Given the description of an element on the screen output the (x, y) to click on. 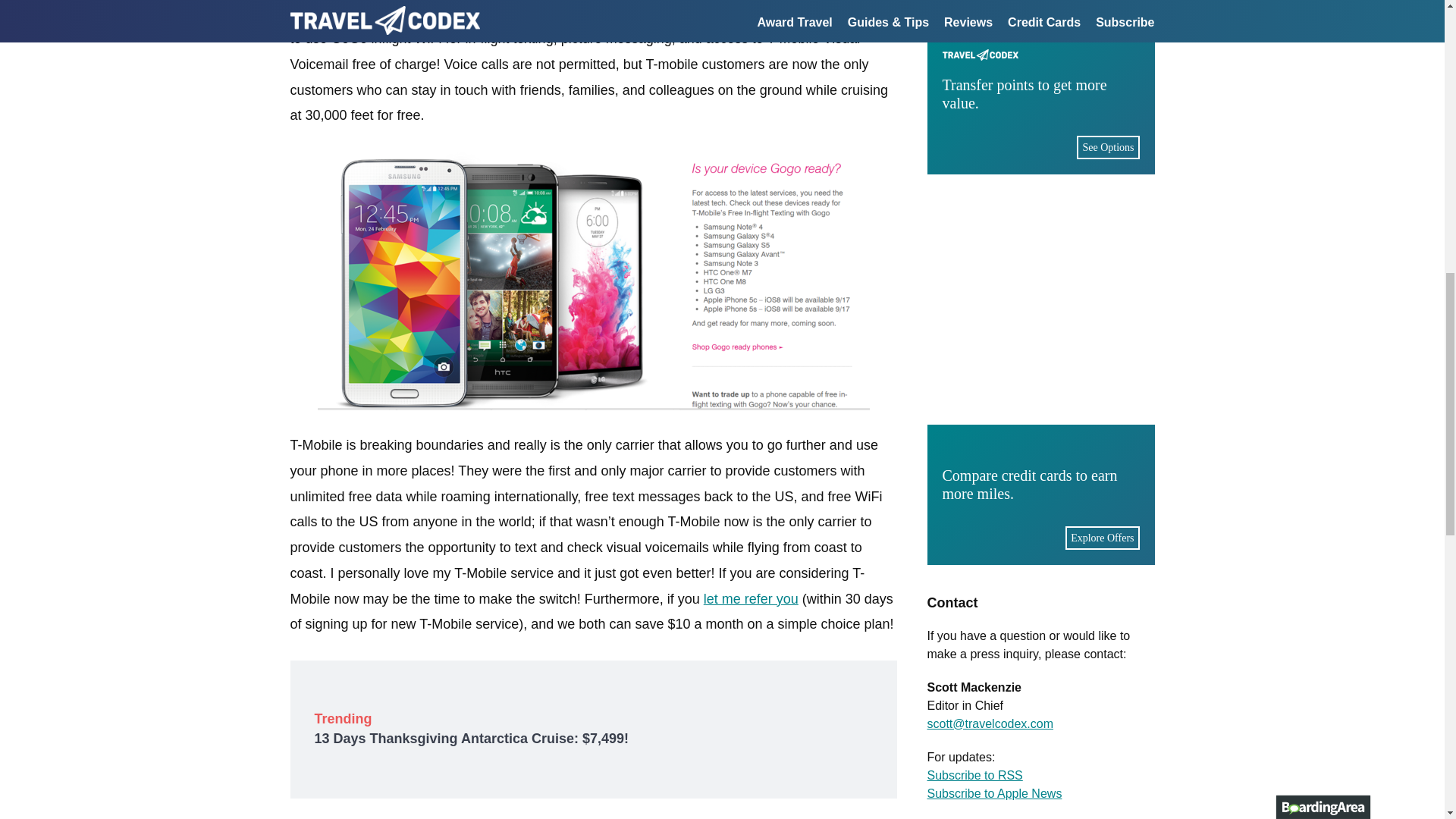
let me refer you (750, 598)
